Given the description of an element on the screen output the (x, y) to click on. 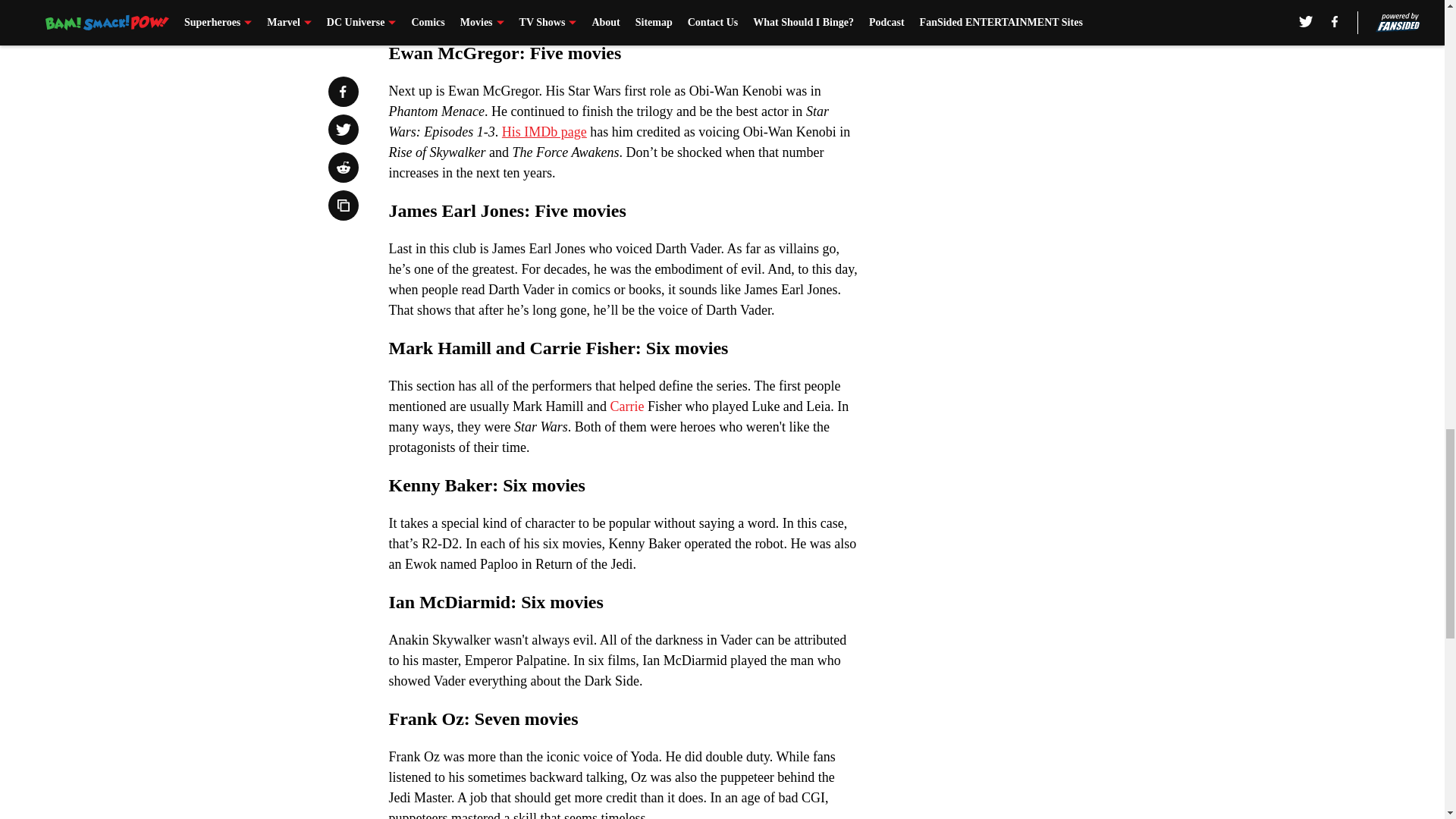
His IMDb page (541, 131)
Carrie (628, 406)
